Given the description of an element on the screen output the (x, y) to click on. 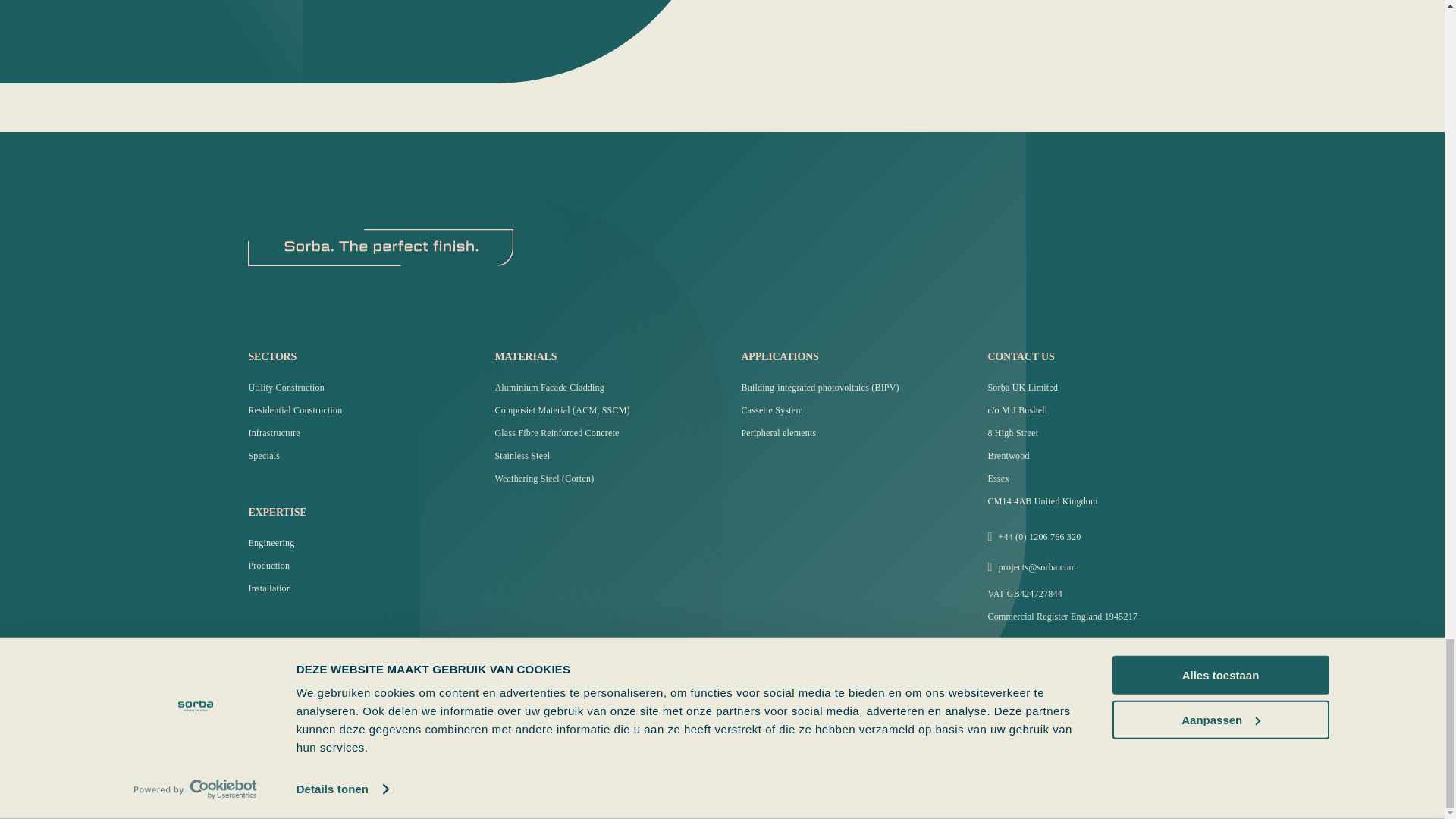
Sorba slogan (380, 247)
